Given the description of an element on the screen output the (x, y) to click on. 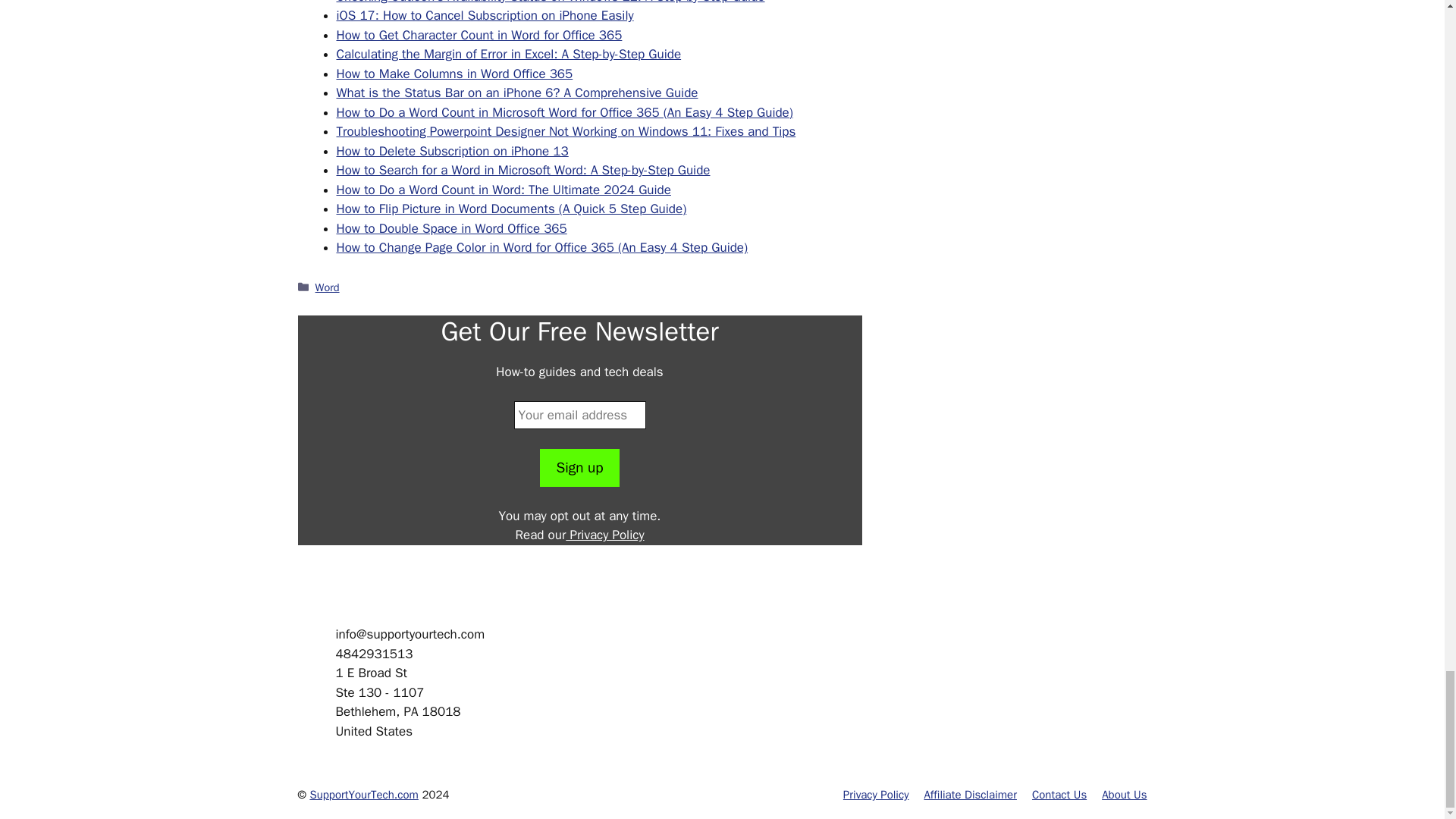
How to Do a Word Count in Word: The Ultimate 2024 Guide (503, 189)
What is the Status Bar on an iPhone 6? A Comprehensive Guide (517, 92)
iOS 17: How to Cancel Subscription on iPhone Easily (484, 15)
Sign up (579, 467)
How to Make Columns in Word Office 365 (454, 73)
How to Double Space in Word Office 365 (451, 228)
How to Delete Subscription on iPhone 13 (452, 150)
How to Get Character Count in Word for Office 365 (479, 35)
